Given the description of an element on the screen output the (x, y) to click on. 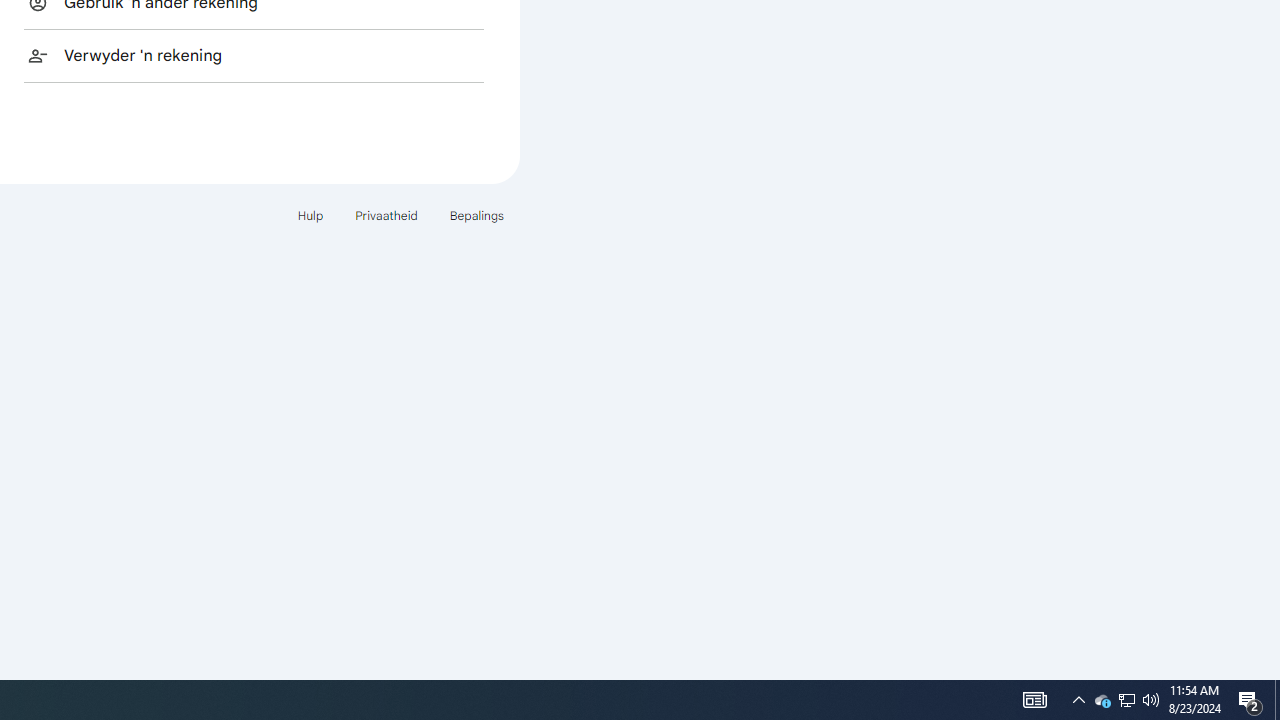
Verwyder 'n rekening (253, 55)
Hulp (310, 214)
Privaatheid (386, 214)
Bepalings (475, 214)
